Given the description of an element on the screen output the (x, y) to click on. 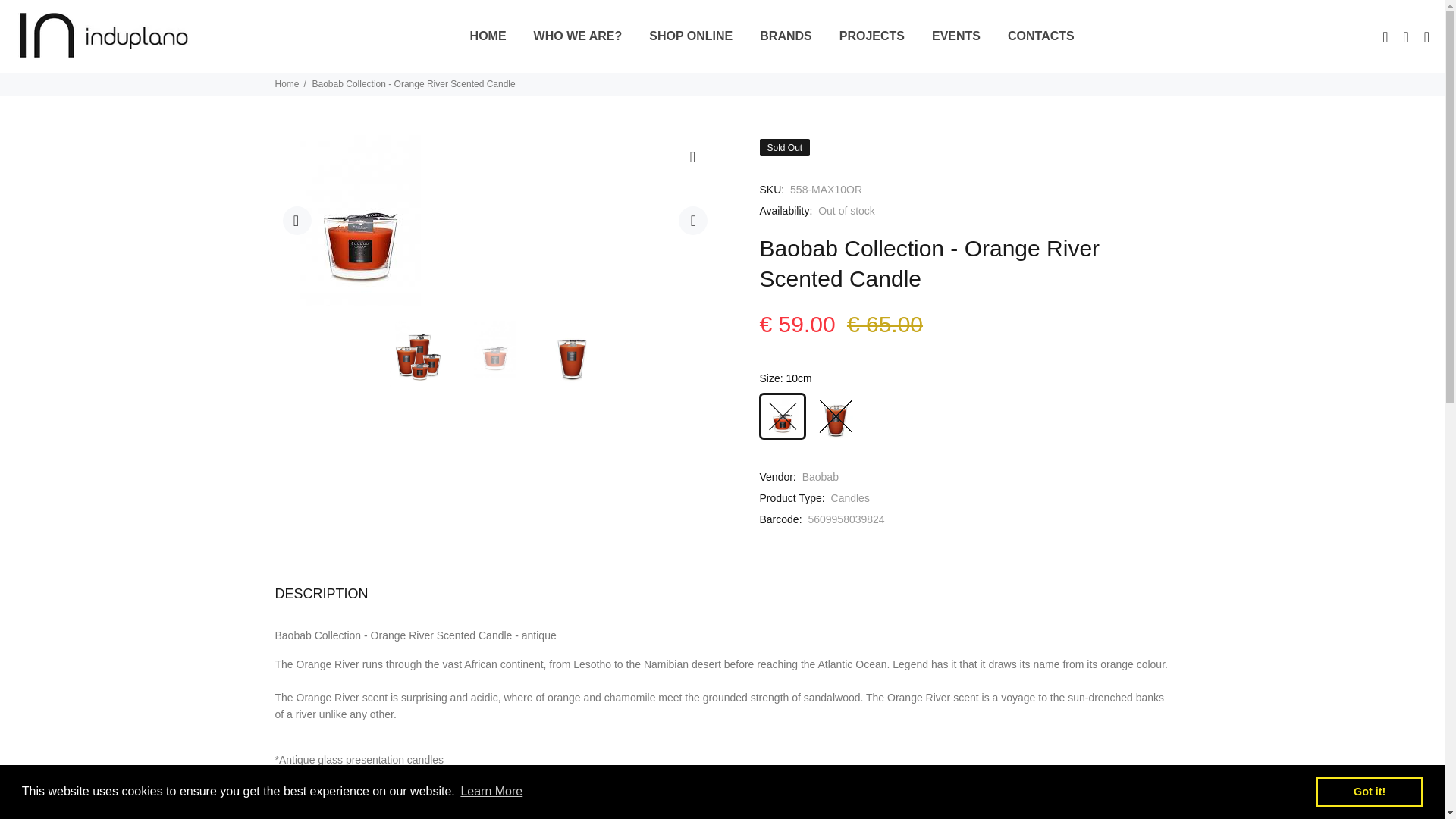
CONTACTS (1034, 36)
Learn More (491, 791)
HOME (490, 36)
Got it! (1369, 791)
SHOP ONLINE (689, 36)
EVENTS (956, 36)
BRANDS (785, 36)
WHO WE ARE? (577, 36)
PROJECTS (871, 36)
